Given the description of an element on the screen output the (x, y) to click on. 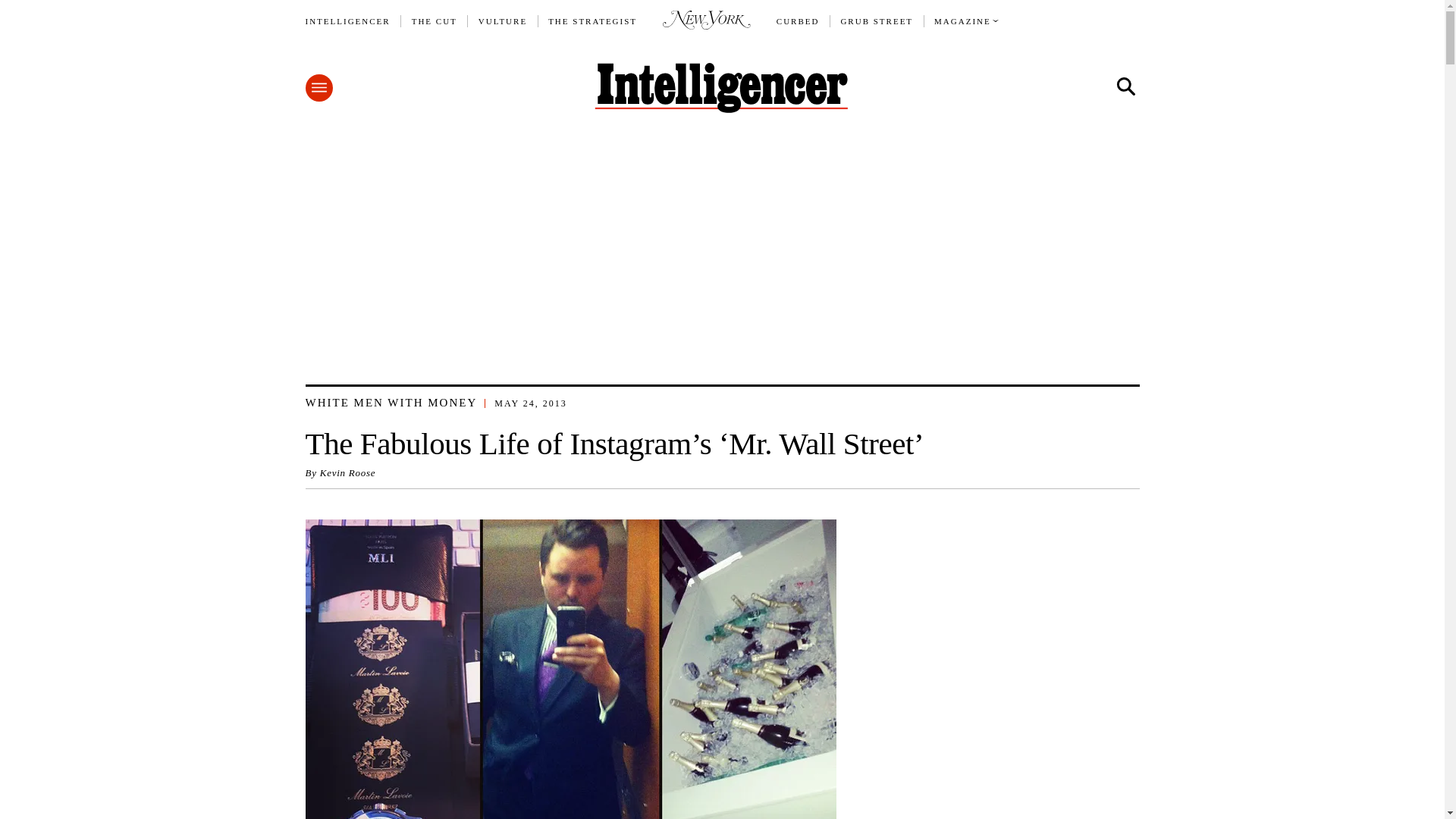
Search (1124, 86)
Menu (317, 87)
CURBED (797, 21)
THE STRATEGIST (592, 21)
INTELLIGENCER (347, 21)
VULTURE (503, 21)
GRUB STREET (876, 21)
THE CUT (434, 21)
Search (1124, 86)
MAGAZINE (962, 21)
